Given the description of an element on the screen output the (x, y) to click on. 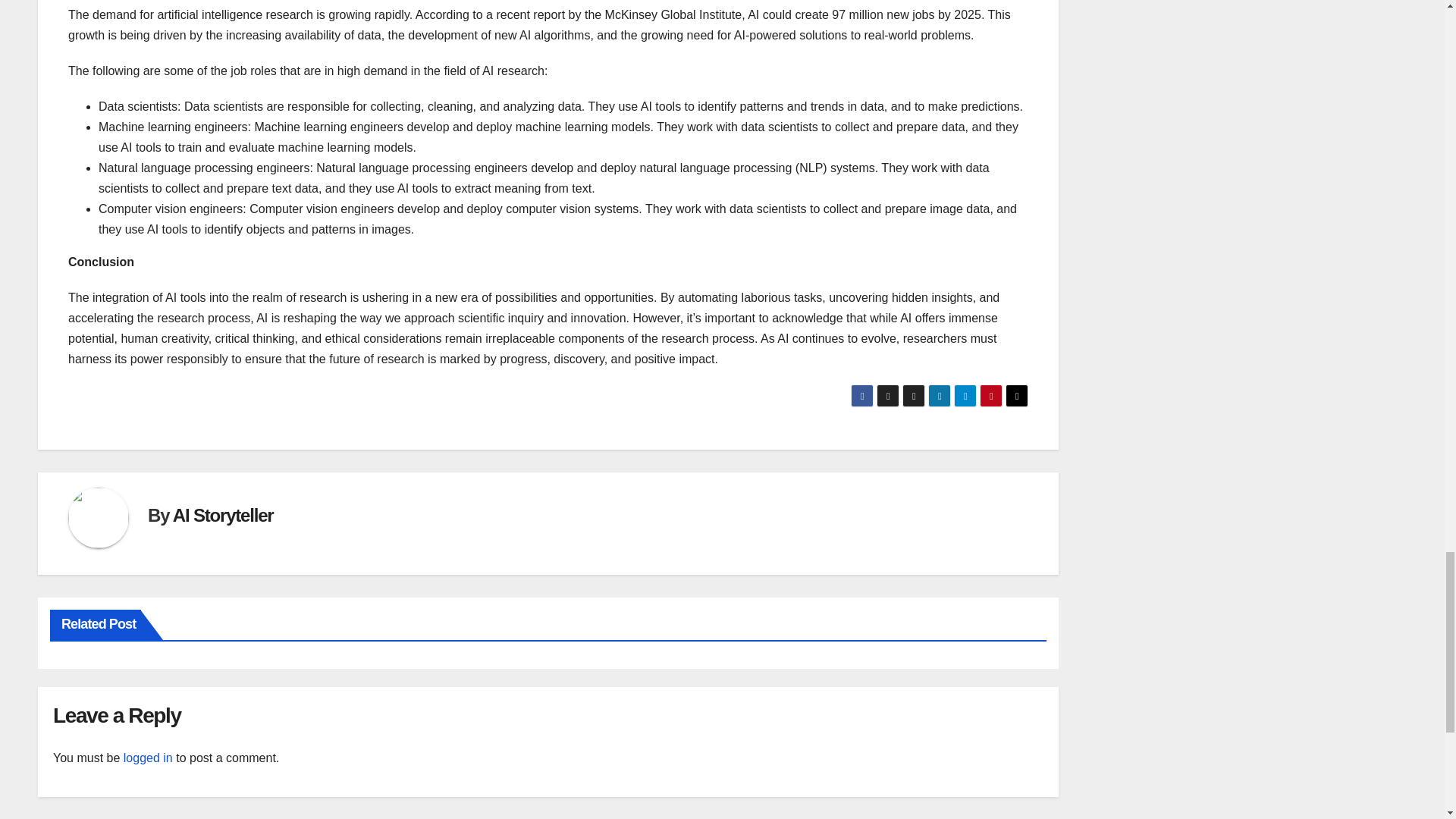
logged in (148, 757)
AI Storyteller (223, 515)
